Given the description of an element on the screen output the (x, y) to click on. 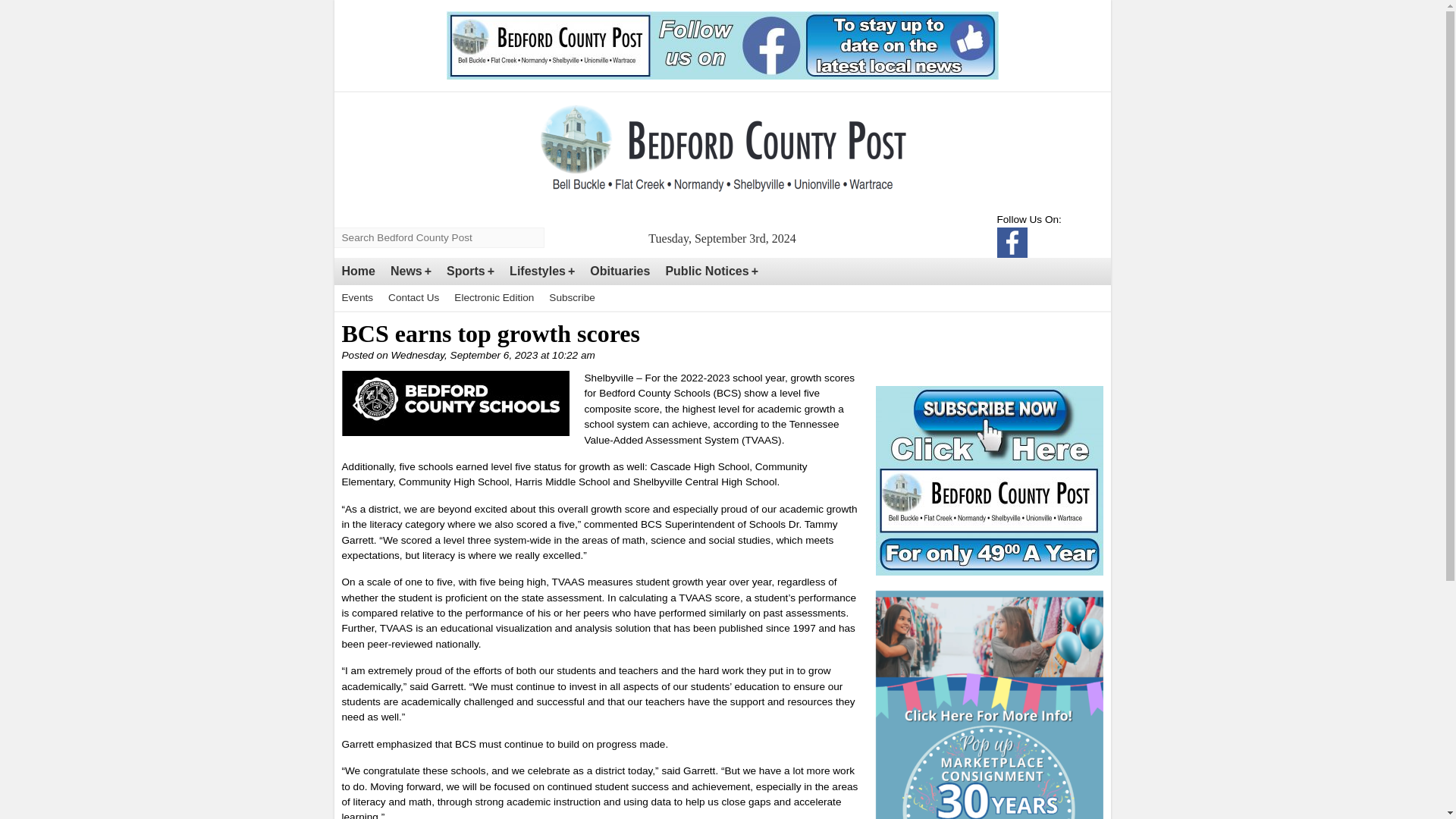
News (410, 271)
Lifestyles (542, 271)
Subscribe (571, 298)
Public Notices (711, 271)
Contact Us (413, 298)
Events (356, 298)
Electronic Edition (493, 298)
Follow us on 728x90 Bedford County Post (721, 45)
Home (357, 271)
Obituaries (620, 271)
